Given the description of an element on the screen output the (x, y) to click on. 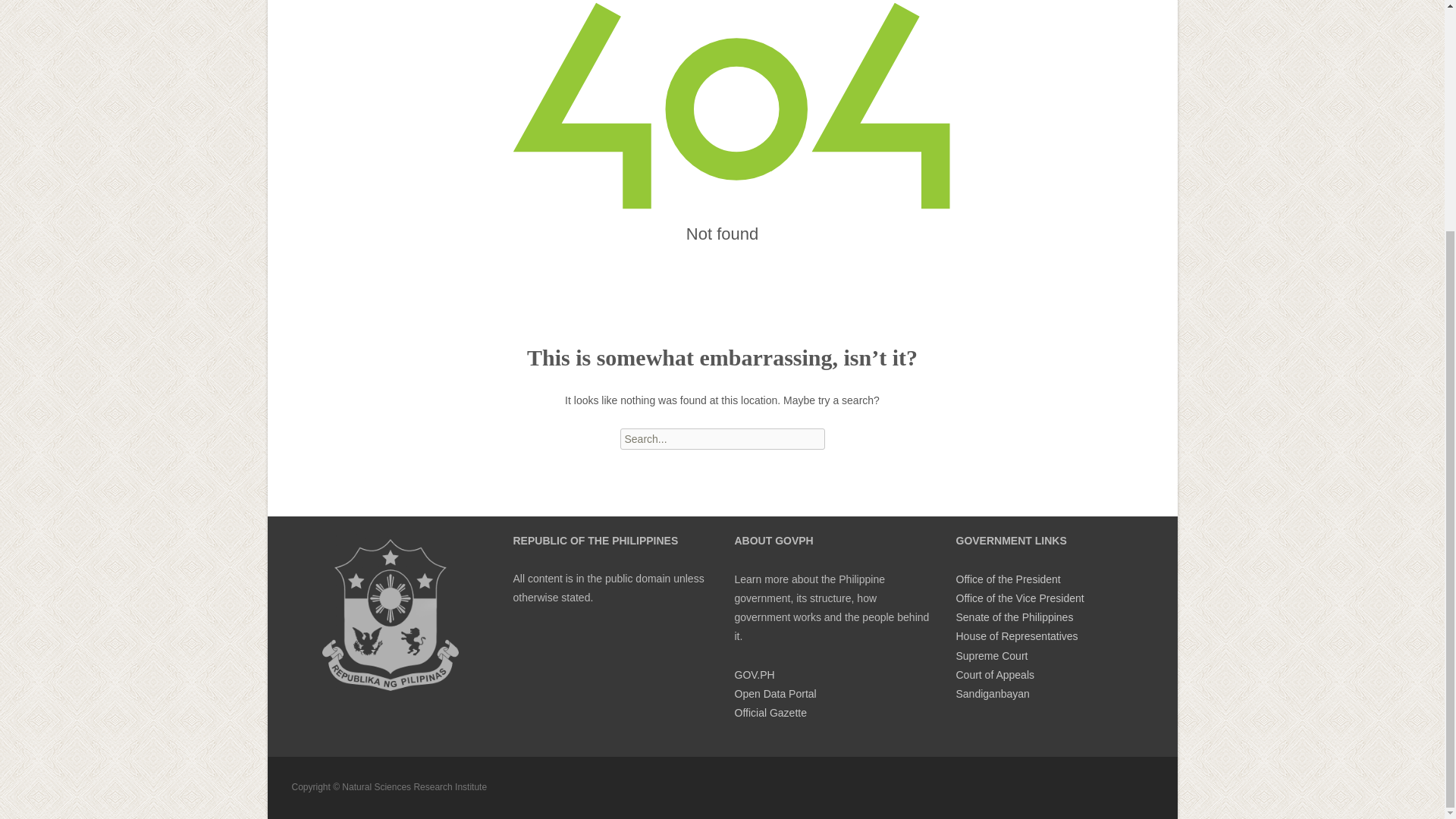
Search for: (722, 438)
Senate of the Philippines (1014, 616)
Court of Appeals (994, 674)
Official Gazette (769, 712)
Office of the President (1007, 579)
Office of the Vice President (1019, 598)
Supreme Court (991, 655)
House of Representatives (1016, 635)
Open Data Portal (774, 693)
Sandiganbayan (992, 693)
